Given the description of an element on the screen output the (x, y) to click on. 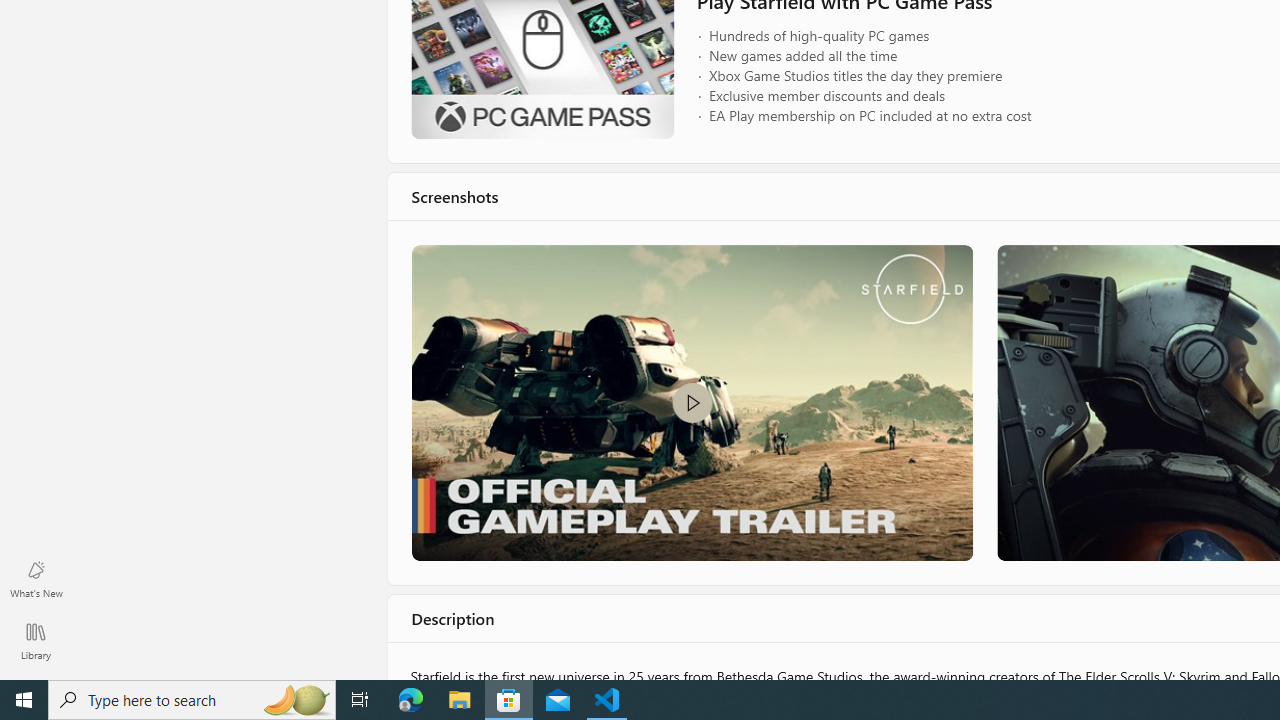
Gameplay Trailer (690, 402)
Class: Image (690, 402)
Library (35, 640)
What's New (35, 578)
